Given the description of an element on the screen output the (x, y) to click on. 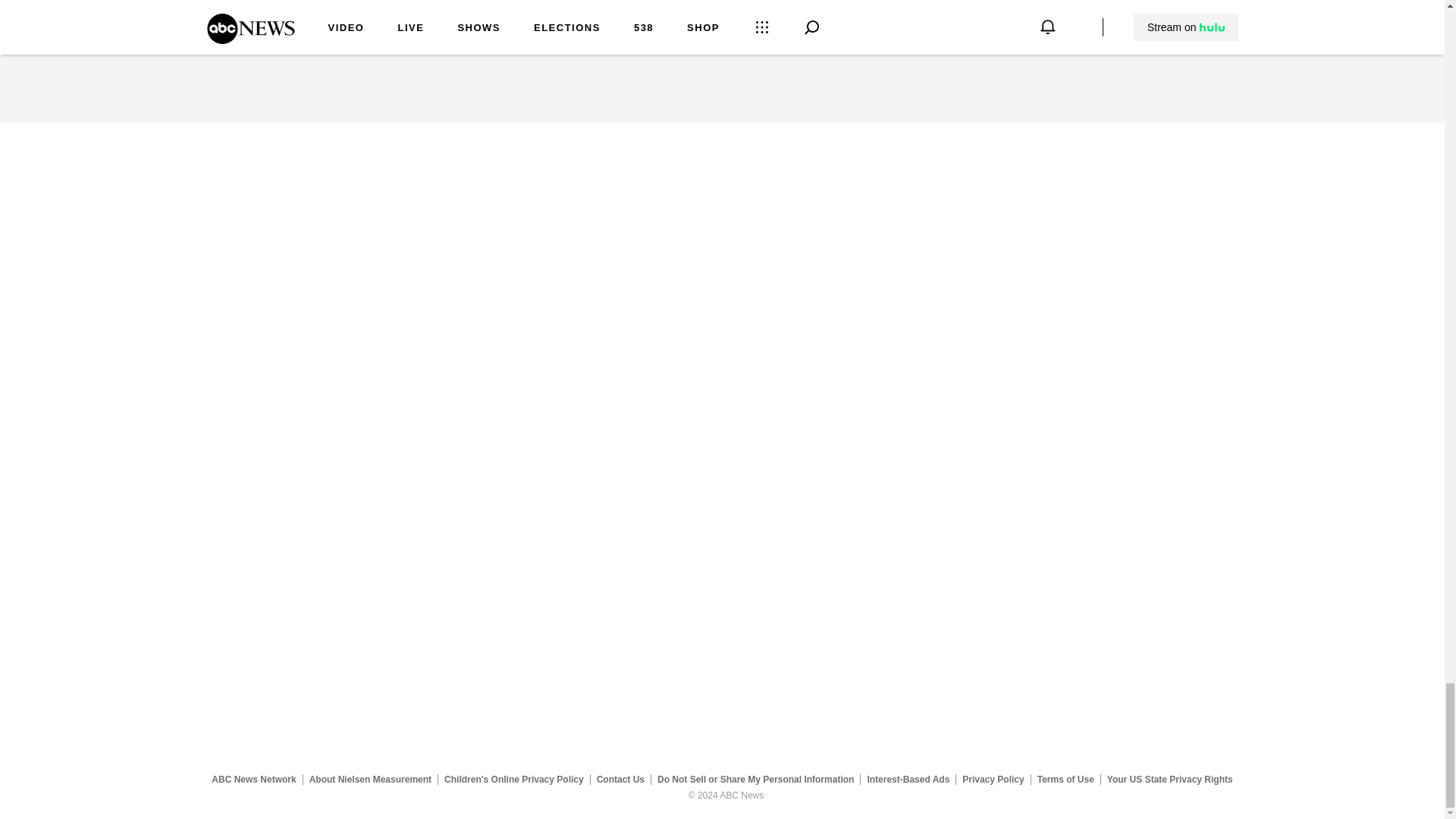
Do Not Sell or Share My Personal Information (755, 778)
Interest-Based Ads (908, 778)
Terms of Use (1065, 778)
About Nielsen Measurement (370, 778)
Contact Us (620, 778)
Children's Online Privacy Policy (514, 778)
Privacy Policy (993, 778)
ABC News Network (253, 778)
Your US State Privacy Rights (1169, 778)
